Given the description of an element on the screen output the (x, y) to click on. 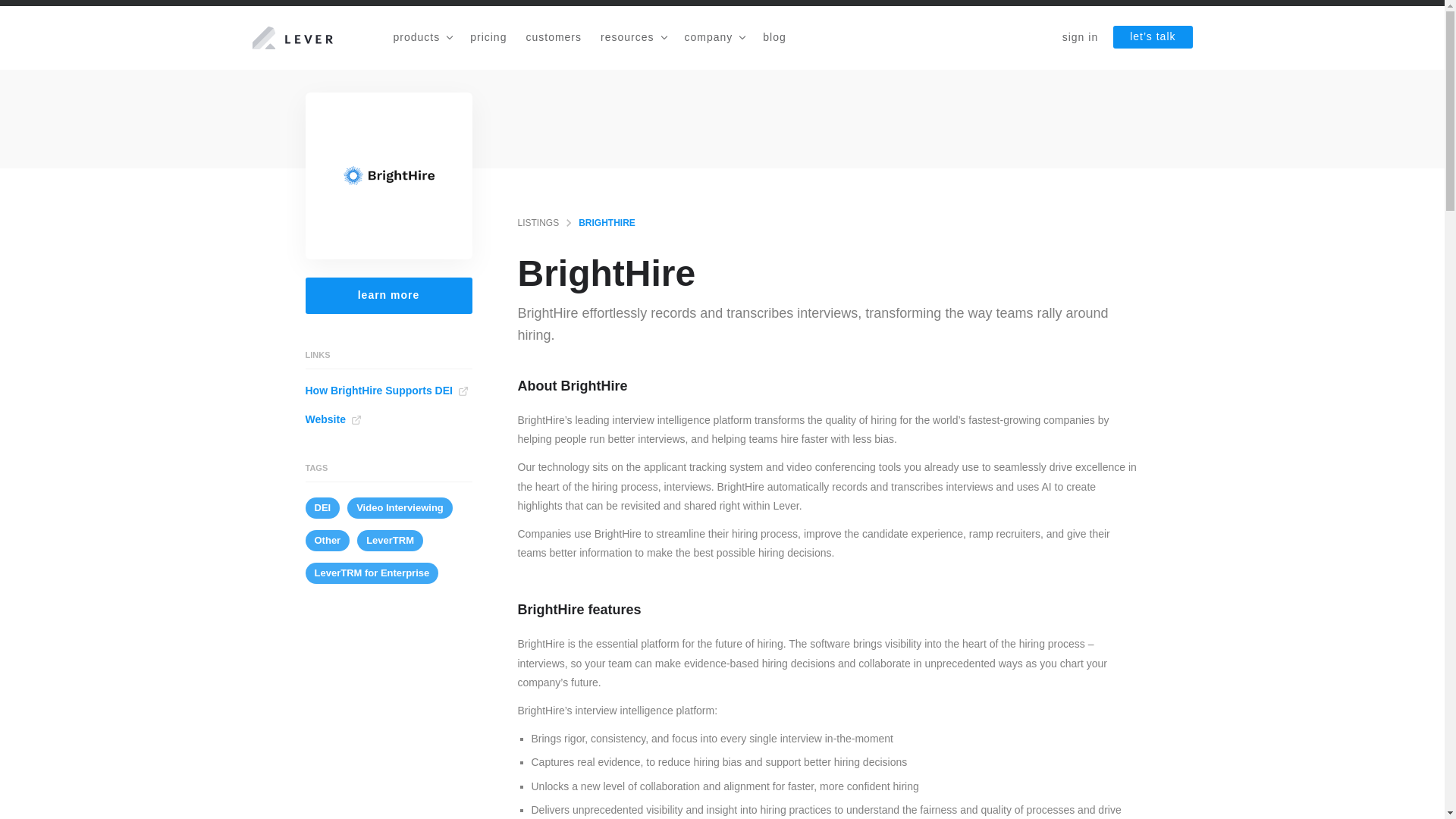
pricing (488, 39)
blog (774, 39)
products (422, 39)
BrightHire (387, 175)
resources (632, 39)
How BrightHire Supports DEI (387, 390)
customers (552, 39)
learn more (387, 295)
company (714, 39)
sign in (1079, 40)
